Given the description of an element on the screen output the (x, y) to click on. 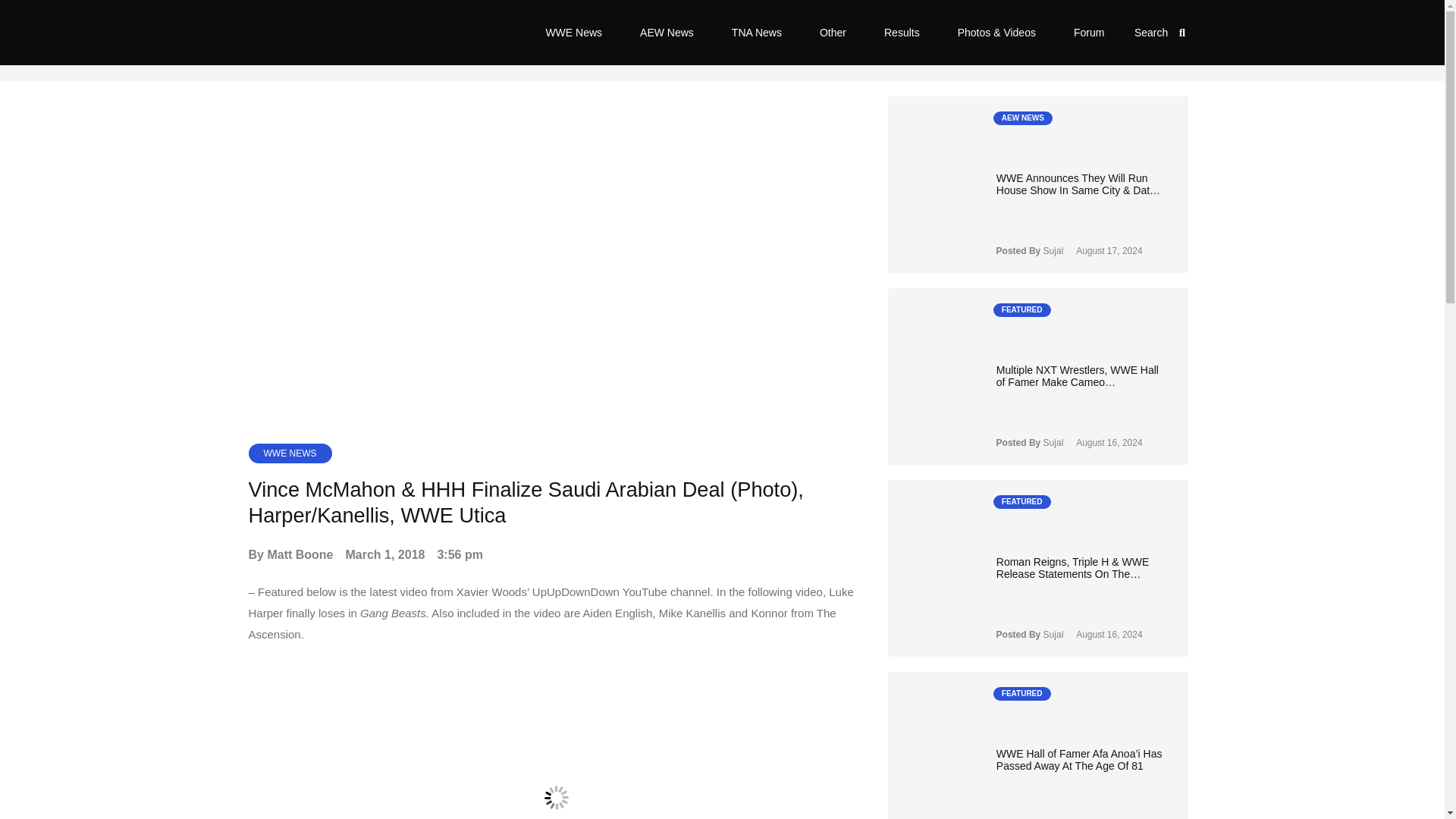
TNA News (756, 32)
Other (832, 32)
WWE News (573, 32)
March 1, 2018 (385, 554)
Results (901, 32)
Forum (1088, 32)
By Matt Boone (290, 554)
AEW News (667, 32)
WWE NEWS (289, 453)
